Given the description of an element on the screen output the (x, y) to click on. 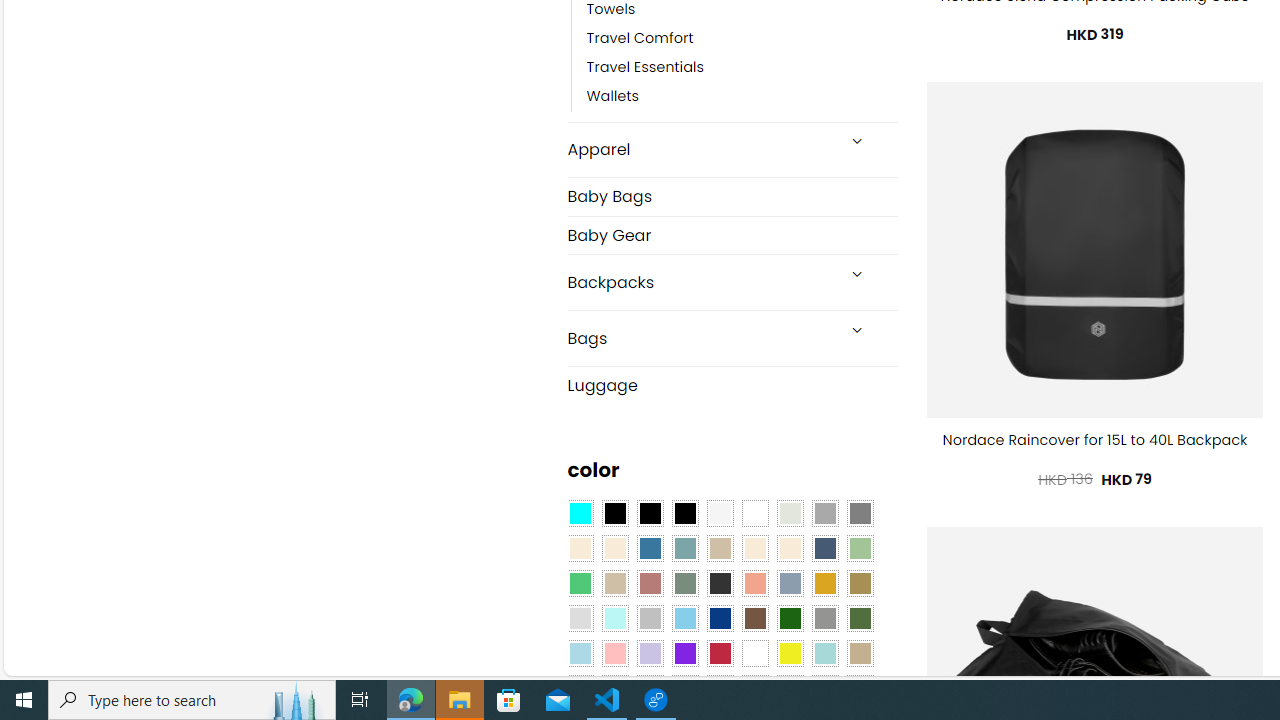
Travel Comfort (742, 38)
Baby Gear (732, 234)
Dark Gray (824, 514)
Aqua Blue (579, 514)
Bags (700, 337)
Brownie (719, 548)
Travel Essentials (742, 67)
Baby Bags (732, 196)
Wallets (613, 97)
Cream (789, 548)
Beige-Brown (614, 548)
Black-Brown (684, 514)
White (755, 653)
Ash Gray (789, 514)
